Given the description of an element on the screen output the (x, y) to click on. 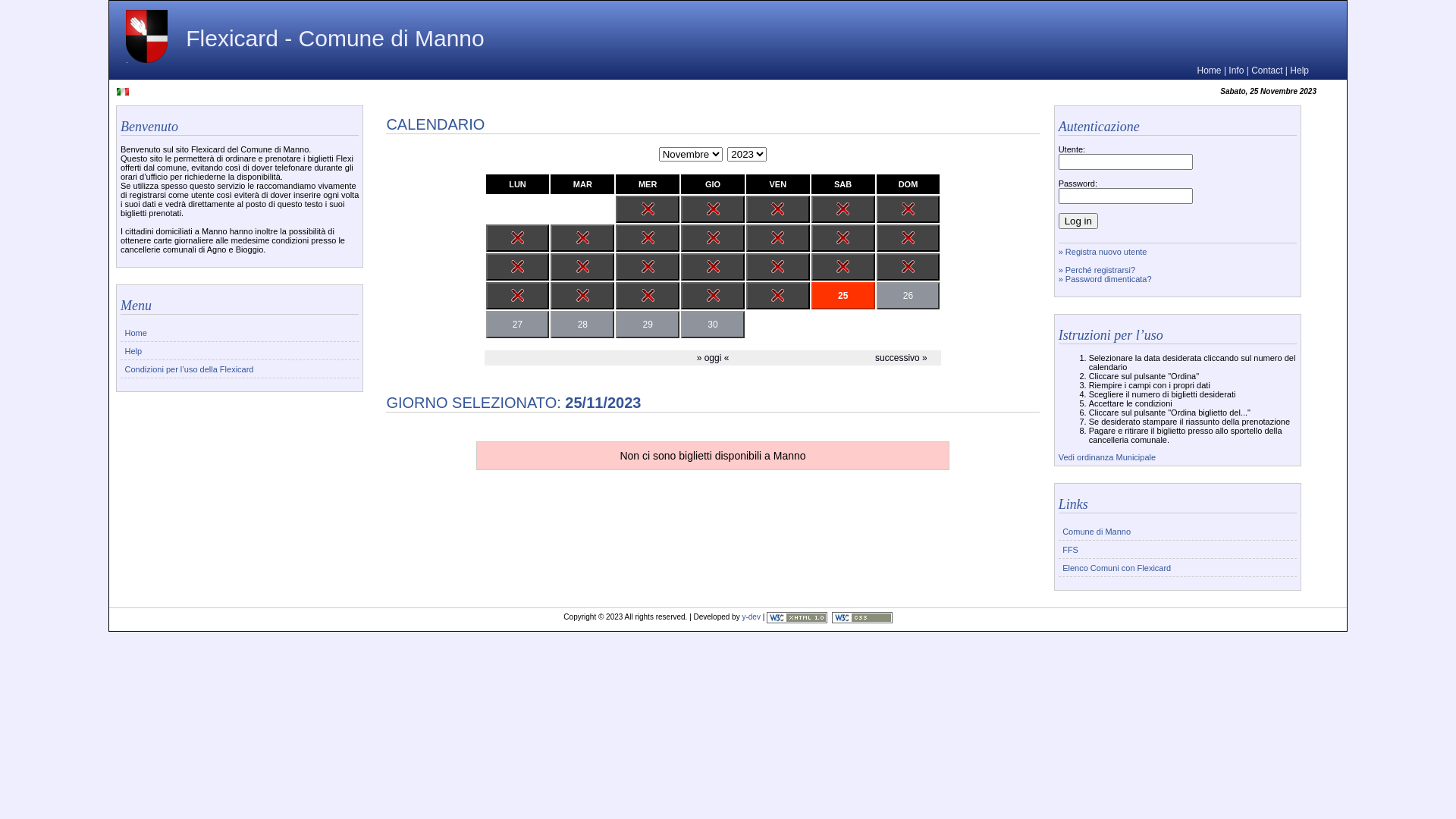
30 Element type: text (712, 324)
25 Element type: text (842, 295)
Home Element type: text (1209, 70)
27 Element type: text (517, 324)
26 Element type: text (908, 295)
Elenco Comuni con Flexicard Element type: text (1177, 567)
29 Element type: text (647, 324)
FFS Element type: text (1177, 549)
Log in Element type: text (1078, 221)
Contact Element type: text (1266, 70)
Help Element type: text (1298, 70)
Vedi ordinanza Municipale Element type: text (1106, 456)
y-dev Element type: text (750, 616)
Comune di Manno Element type: text (1177, 530)
Info Element type: text (1235, 70)
Home Element type: text (239, 332)
28 Element type: text (581, 324)
Help Element type: text (239, 350)
